Given the description of an element on the screen output the (x, y) to click on. 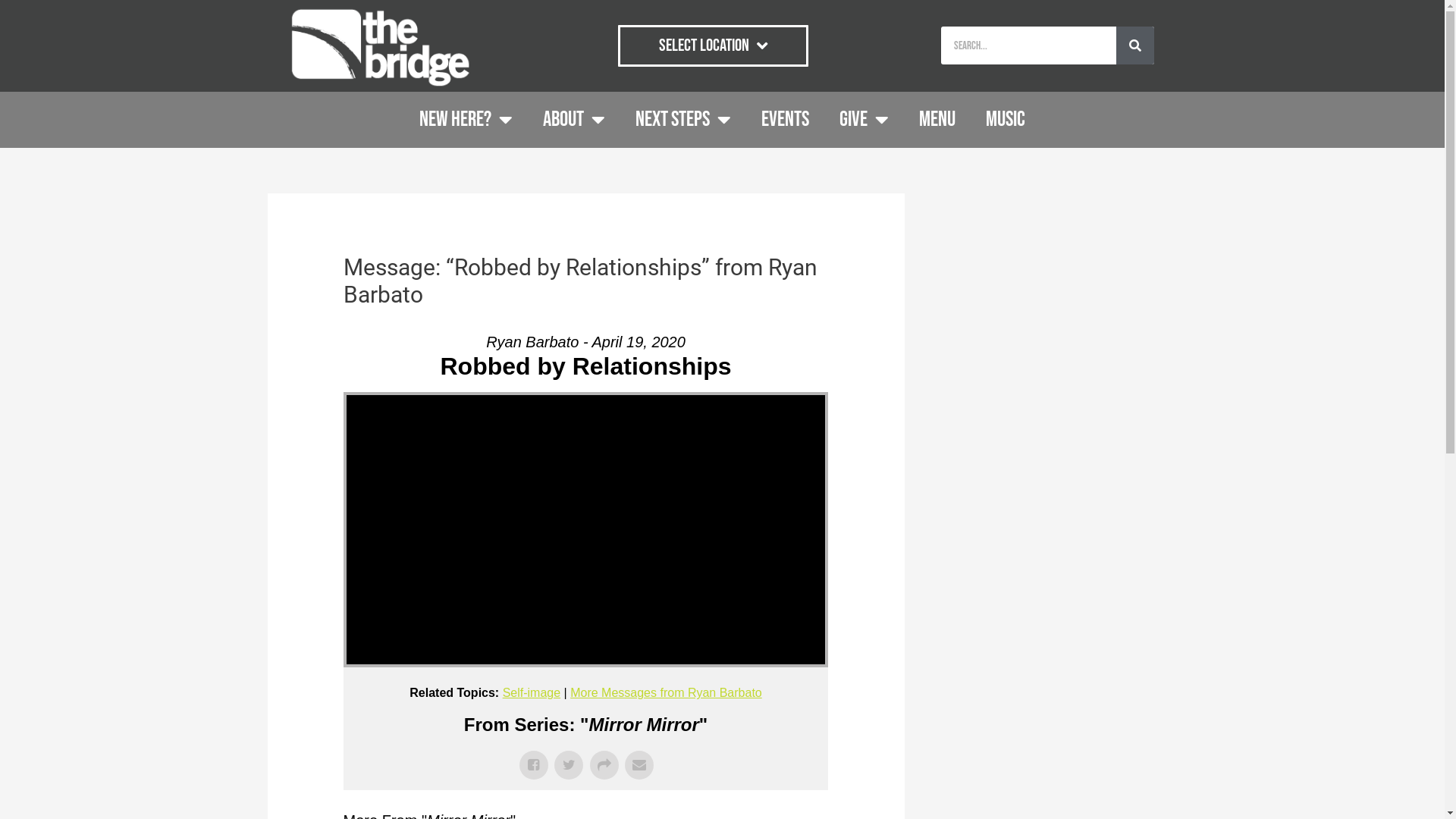
Vimeo Element type: text (697, 400)
GIVE Element type: text (863, 119)
More Messages from Ryan Barbato Element type: text (666, 692)
Self-image Element type: text (531, 692)
NEW HERE? Element type: text (465, 119)
Mirror Mirror week 1 Pastor Ryan 4-19-20 Element type: text (458, 400)
Select Location Element type: text (713, 45)
MENU Element type: text (936, 119)
MUSIC Element type: text (1005, 119)
The Bridge Element type: text (629, 400)
ABOUT Element type: text (573, 119)
NEXT STEPS Element type: text (683, 119)
EVENTS Element type: text (785, 119)
